Given the description of an element on the screen output the (x, y) to click on. 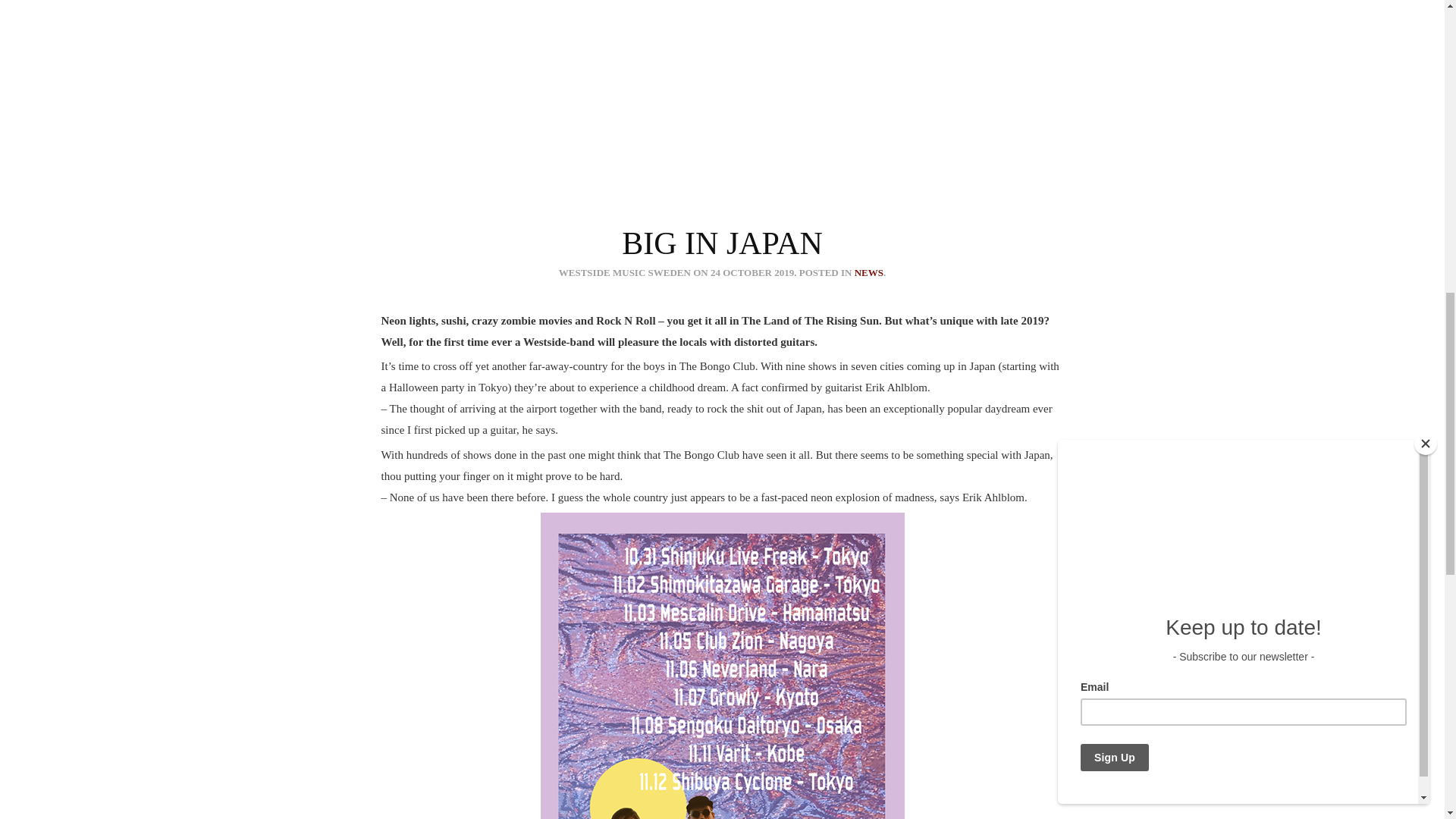
NEWS (868, 272)
